Given the description of an element on the screen output the (x, y) to click on. 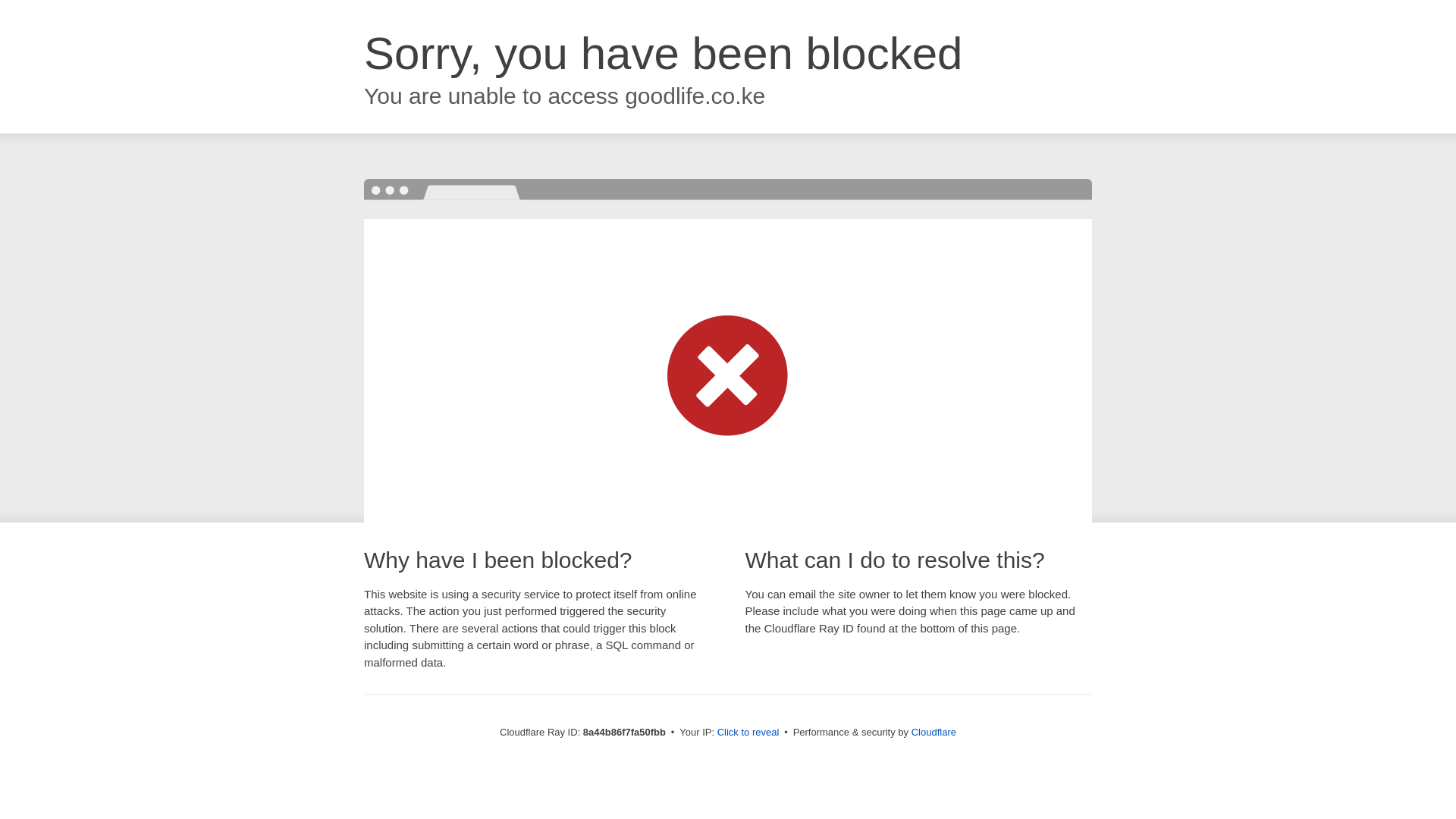
Click to reveal (747, 732)
Cloudflare (933, 731)
